Given the description of an element on the screen output the (x, y) to click on. 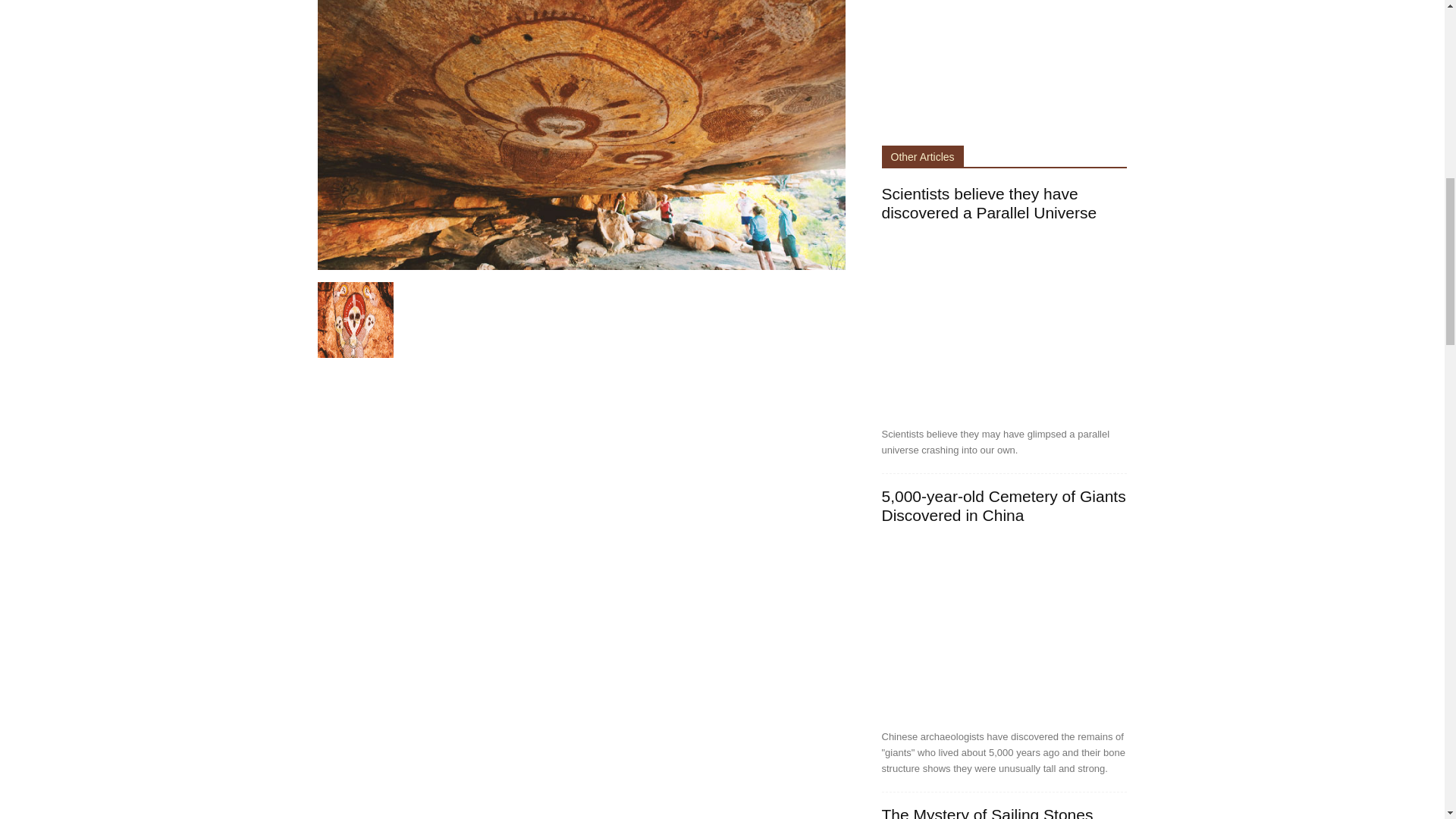
Scientists believe they have discovered a Parallel Universe (988, 203)
The Mystery of Sailing Stones Revealed (986, 812)
5,000-year-old Cemetery of Giants Discovered in China (1002, 505)
5,000-year-old Cemetery of Giants Discovered in China (1003, 628)
5,000-year-old Cemetery of Giants Discovered in China (1002, 505)
The Mystery of Sailing Stones Revealed (986, 812)
Scientists believe they have discovered a Parallel Universe (988, 203)
Scientists believe they have discovered a Parallel Universe (1003, 326)
